Given the description of an element on the screen output the (x, y) to click on. 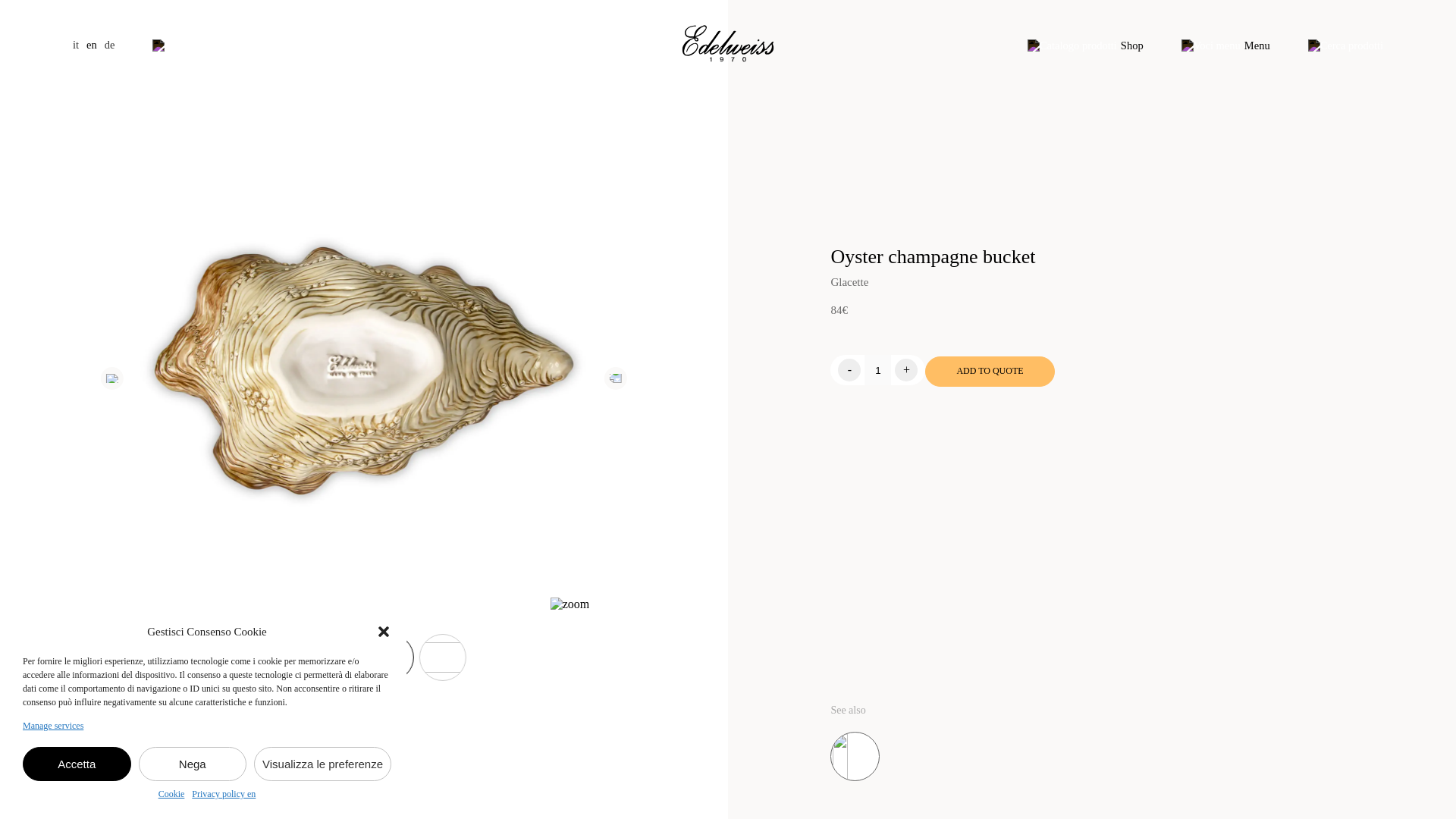
Manage services (52, 726)
Privacy policy en (224, 794)
Cookie (171, 794)
Nega (192, 763)
Accetta (77, 763)
Visualizza le preferenze (322, 763)
